Given the description of an element on the screen output the (x, y) to click on. 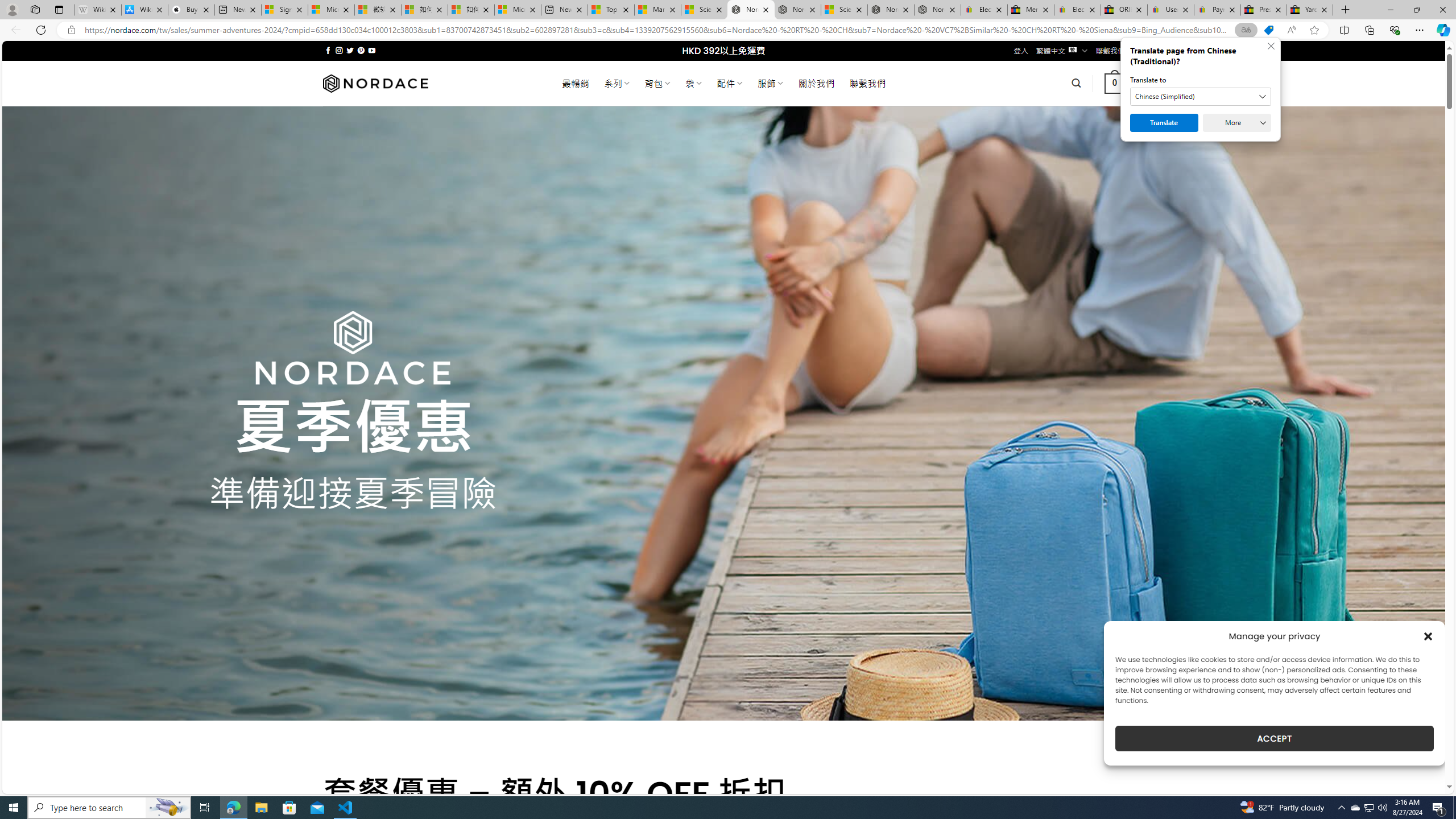
 0  (1115, 83)
Collections (1369, 29)
View site information (70, 29)
Class: cmplz-close (1428, 636)
Address and search bar (658, 29)
App bar (728, 29)
Nordace (374, 83)
Follow on Twitter (349, 50)
Marine life - MSN (656, 9)
